Given the description of an element on the screen output the (x, y) to click on. 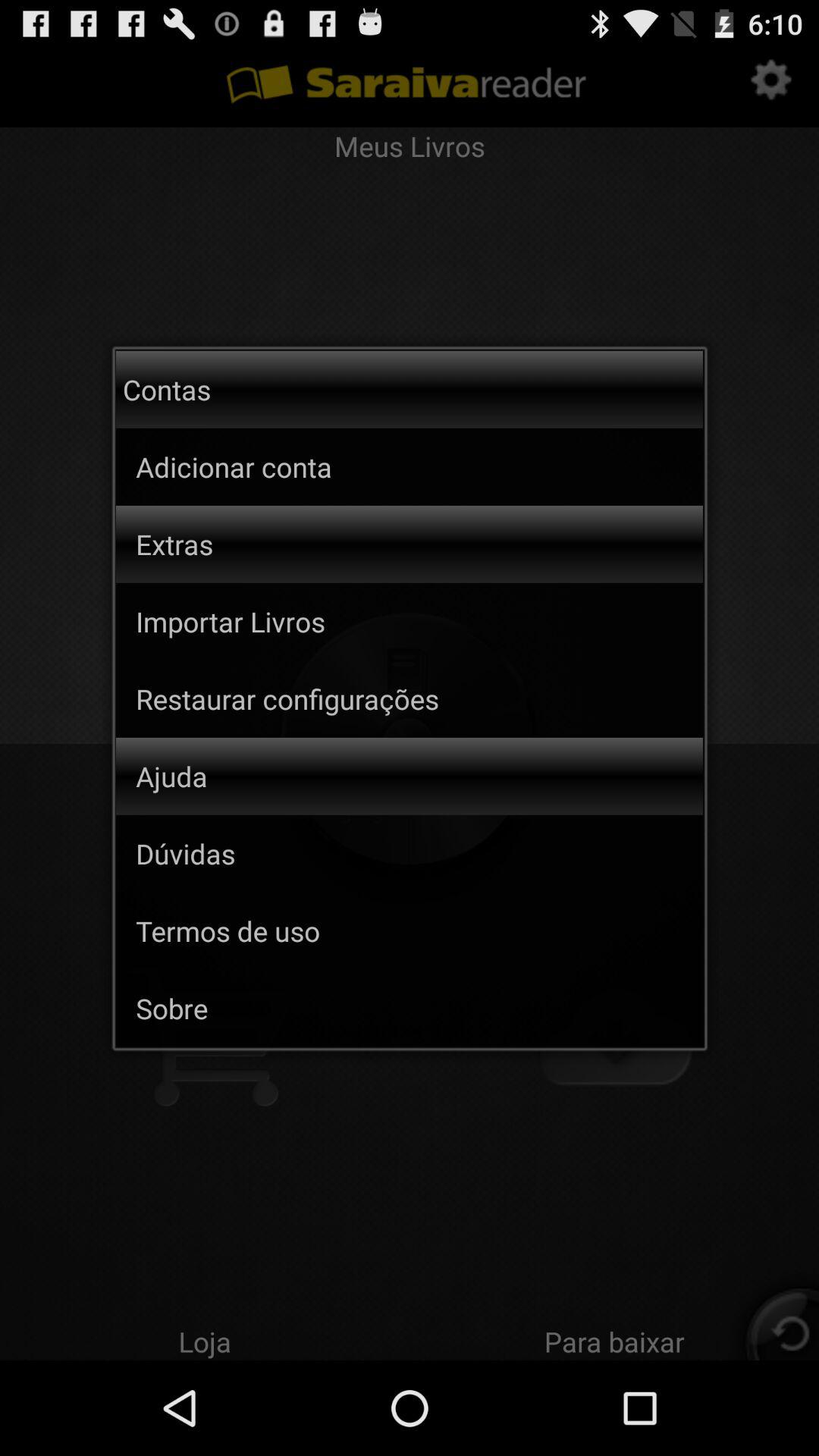
press the item below the ajuda app (185, 853)
